Given the description of an element on the screen output the (x, y) to click on. 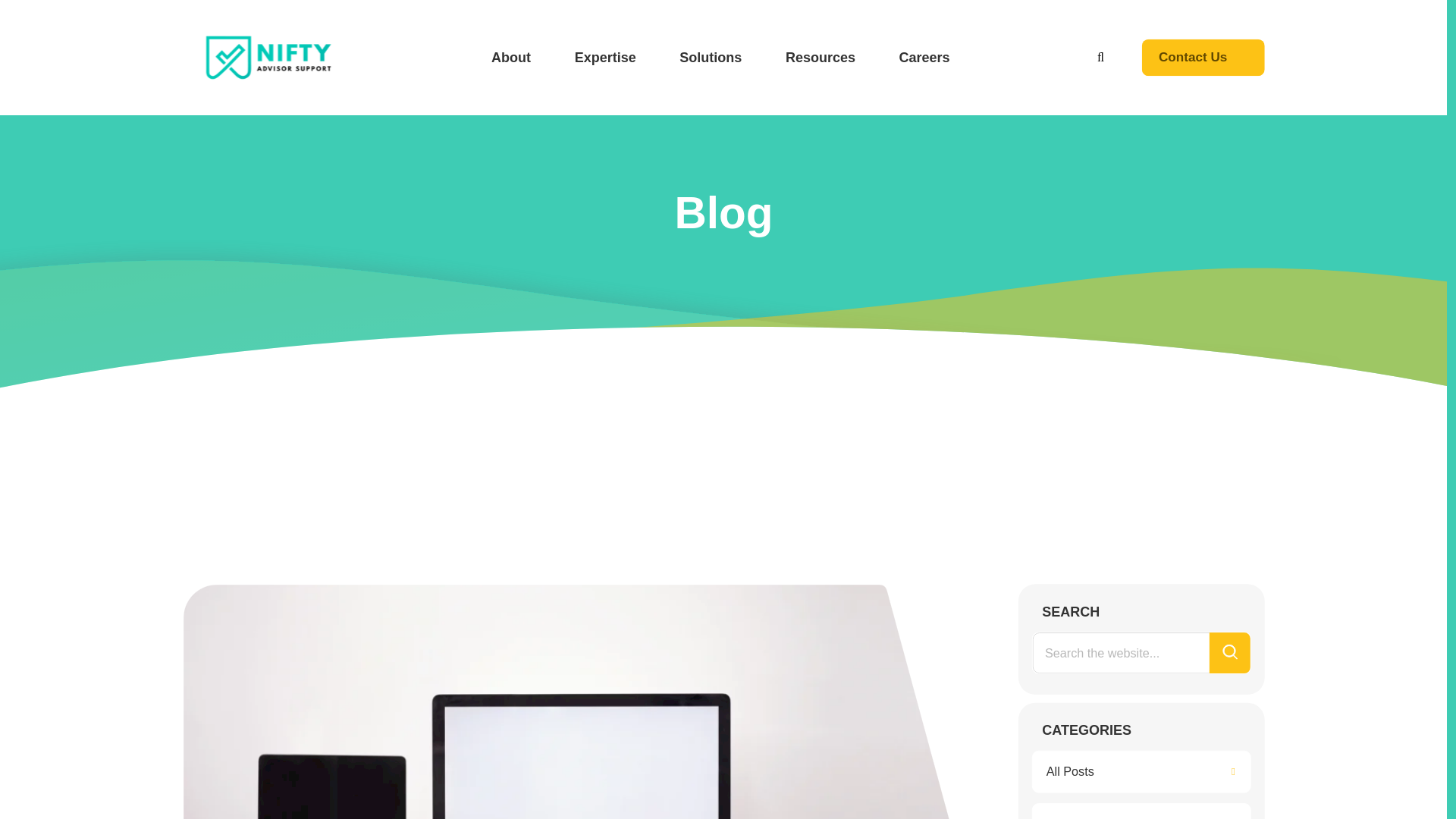
Careers (926, 57)
About (513, 57)
Solutions (713, 57)
Contact Us (1209, 59)
Expertise (607, 57)
Resources (822, 57)
